Given the description of an element on the screen output the (x, y) to click on. 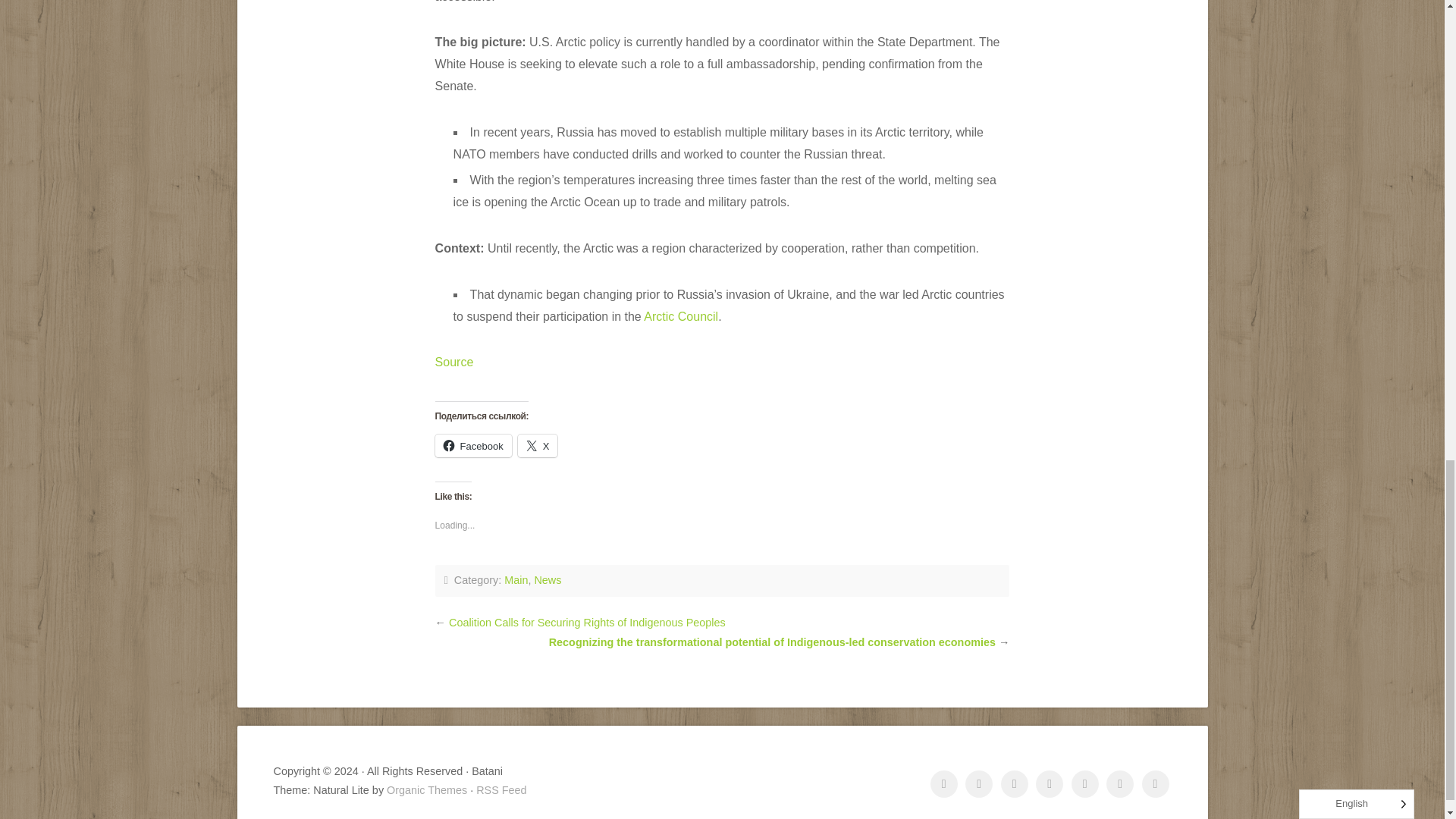
Organic Themes (427, 789)
Click to share on Facebook (473, 445)
Main (515, 580)
Coalition Calls for Securing Rights of Indigenous Peoples (586, 622)
News (547, 580)
RSS Feed (500, 789)
Arctic Council (680, 316)
Click to share on X (537, 445)
Source (454, 361)
X (537, 445)
